Given the description of an element on the screen output the (x, y) to click on. 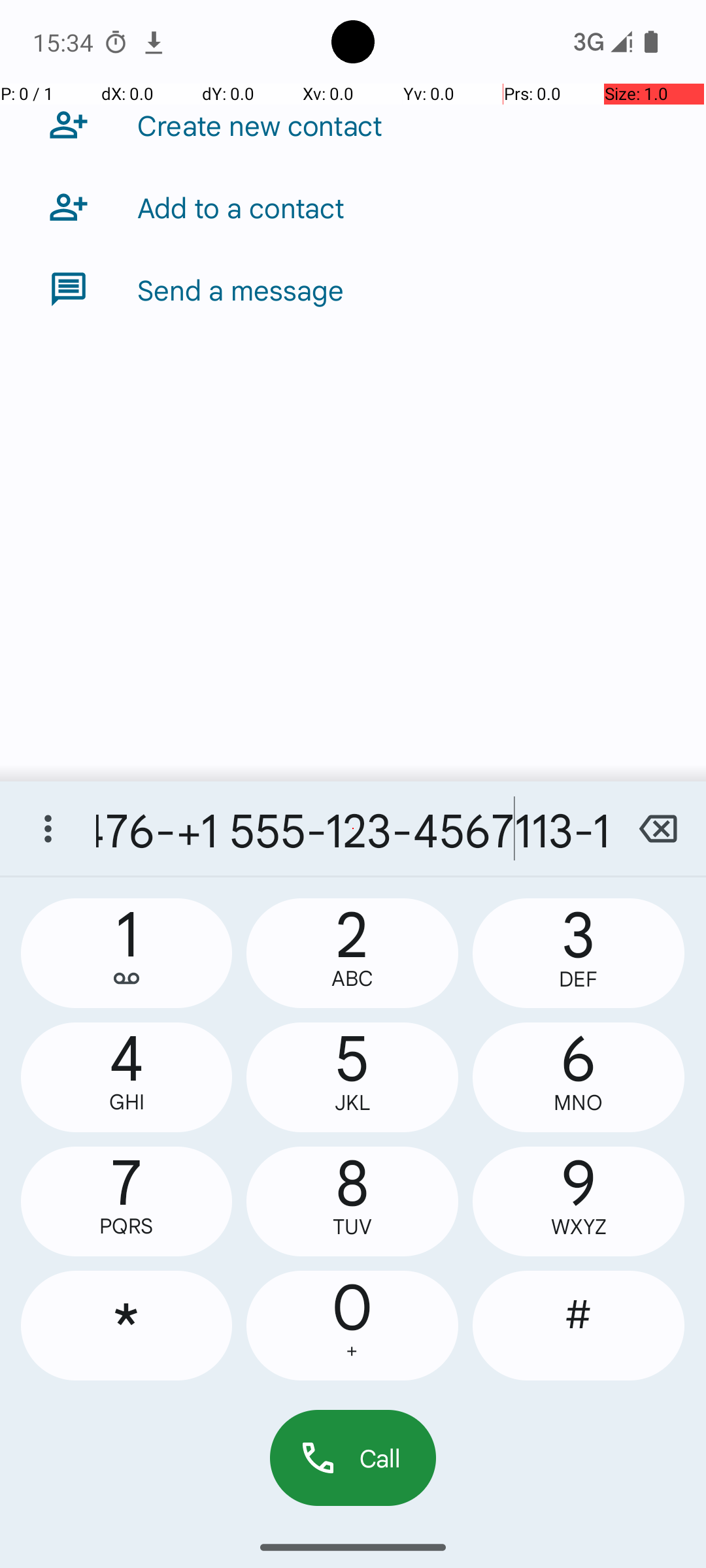
+1 476-+1 555-123-4567113-1773 Element type: android.widget.EditText (352, 828)
